Given the description of an element on the screen output the (x, y) to click on. 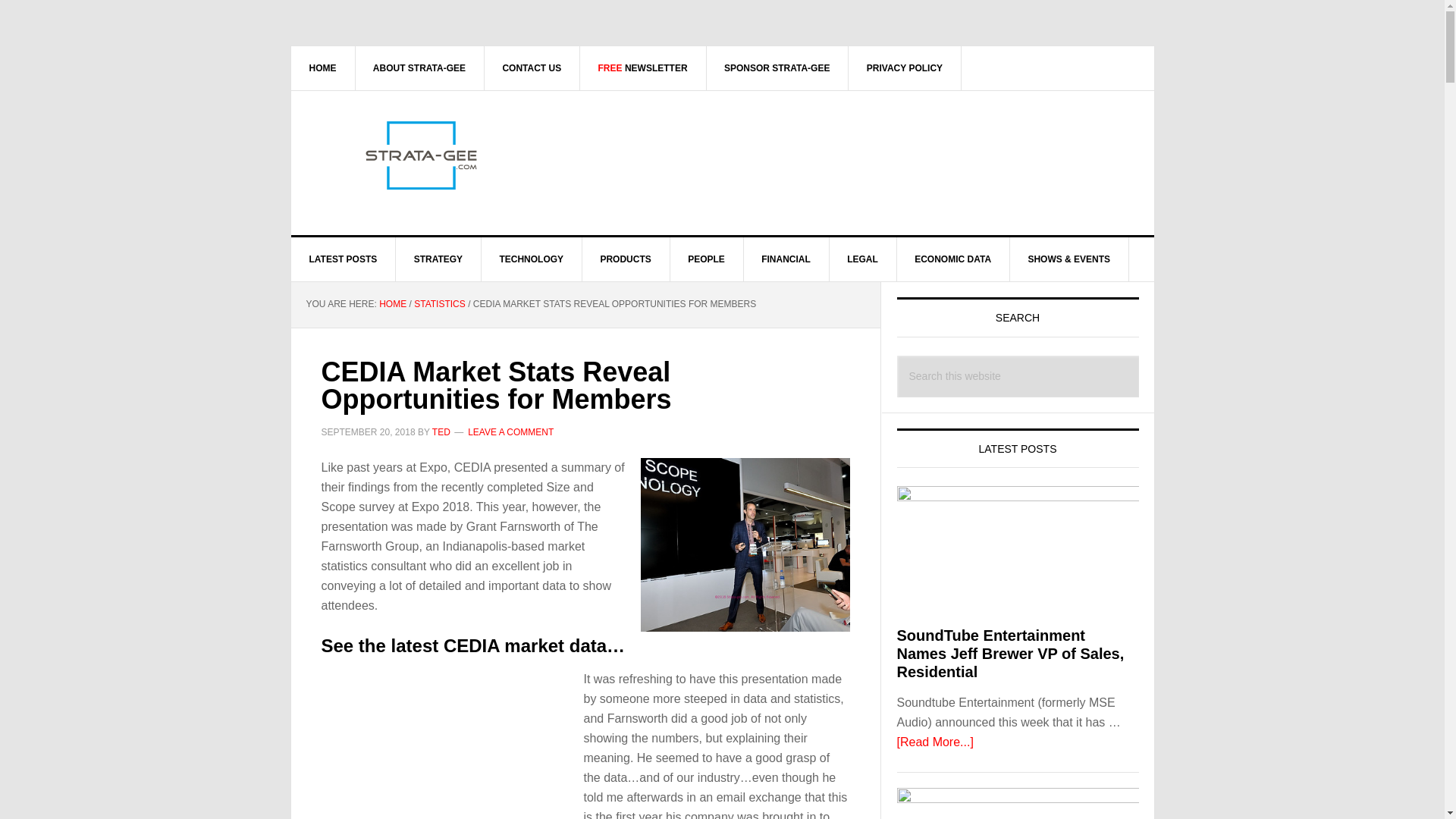
PRIVACY POLICY (904, 67)
CONTACT US (531, 67)
LEGAL (862, 259)
PEOPLE (706, 259)
TECHNOLOGY (531, 259)
FREE NEWSLETTER (642, 67)
HOME (323, 67)
STRATEGY (438, 259)
LATEST POSTS (343, 259)
TED (440, 430)
